Given the description of an element on the screen output the (x, y) to click on. 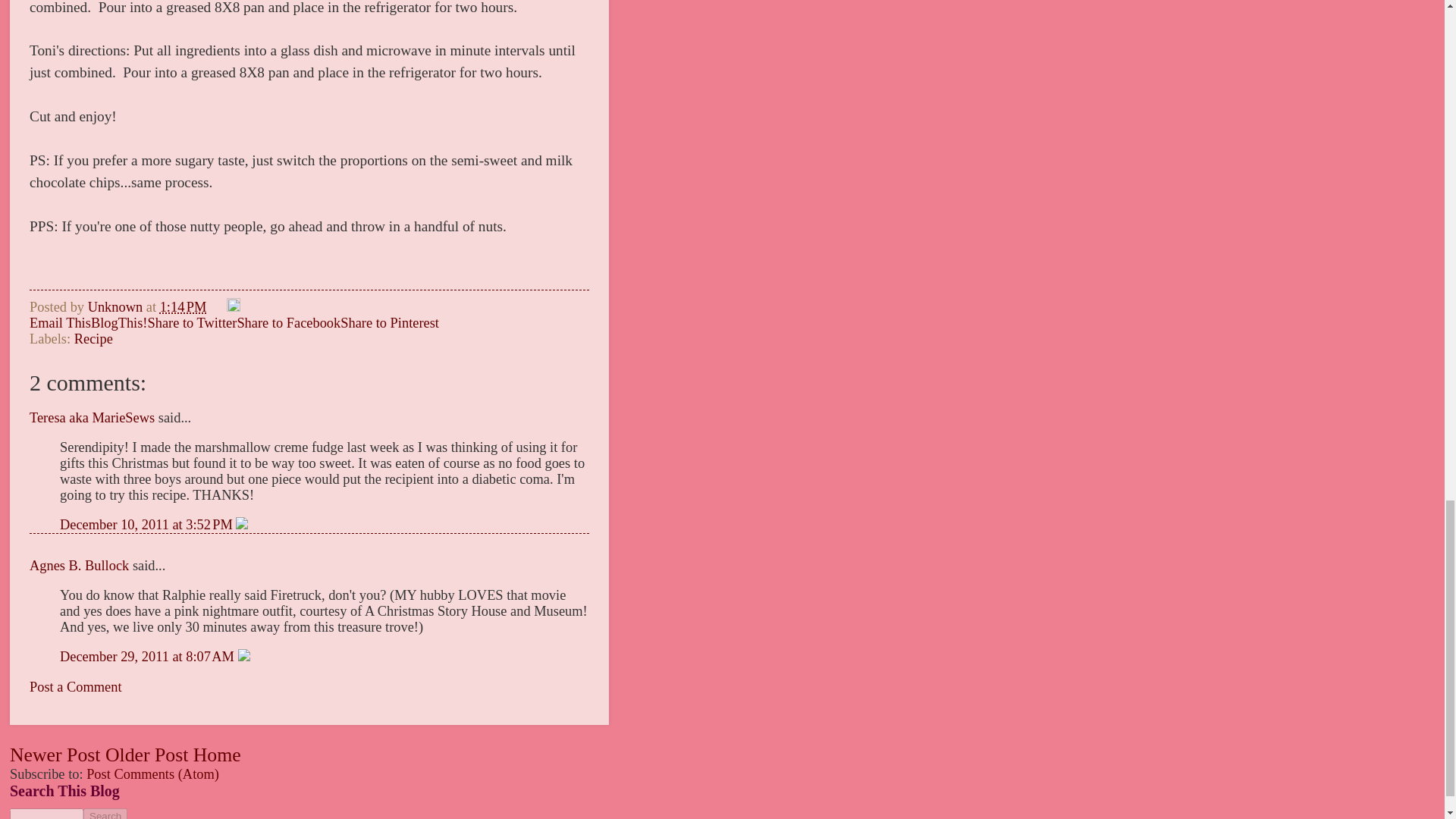
Home (217, 754)
BlogThis! (119, 322)
Edit Post (233, 306)
comment permalink (147, 524)
Unknown (117, 306)
Share to Pinterest (389, 322)
Email This (59, 322)
Recipe (93, 338)
Post a Comment (75, 686)
